Given the description of an element on the screen output the (x, y) to click on. 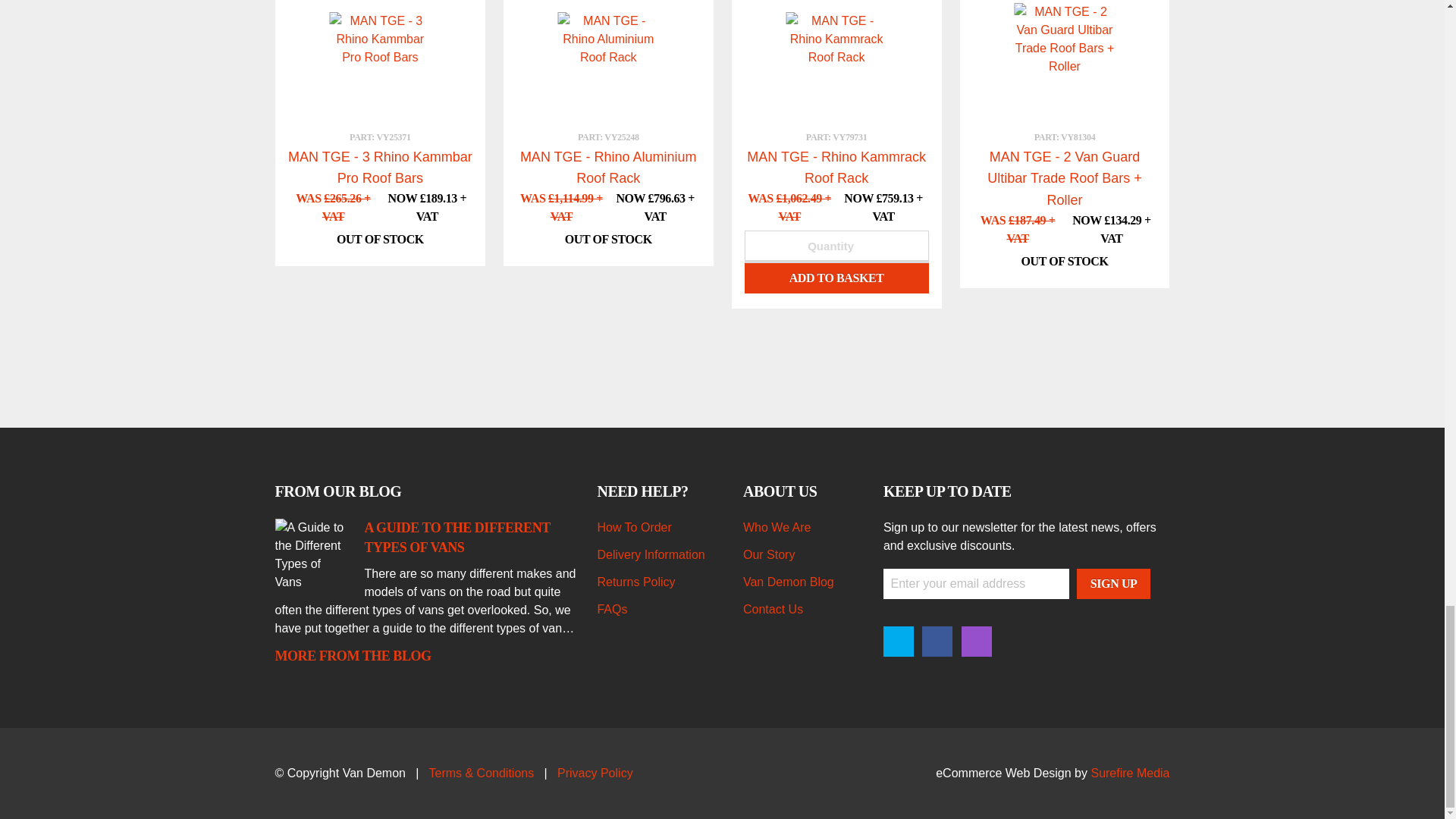
Van Demon Blog (426, 656)
Reviews Carousel Inline Widget (722, 365)
A Guide to the Different Types of Vans  (457, 537)
